Given the description of an element on the screen output the (x, y) to click on. 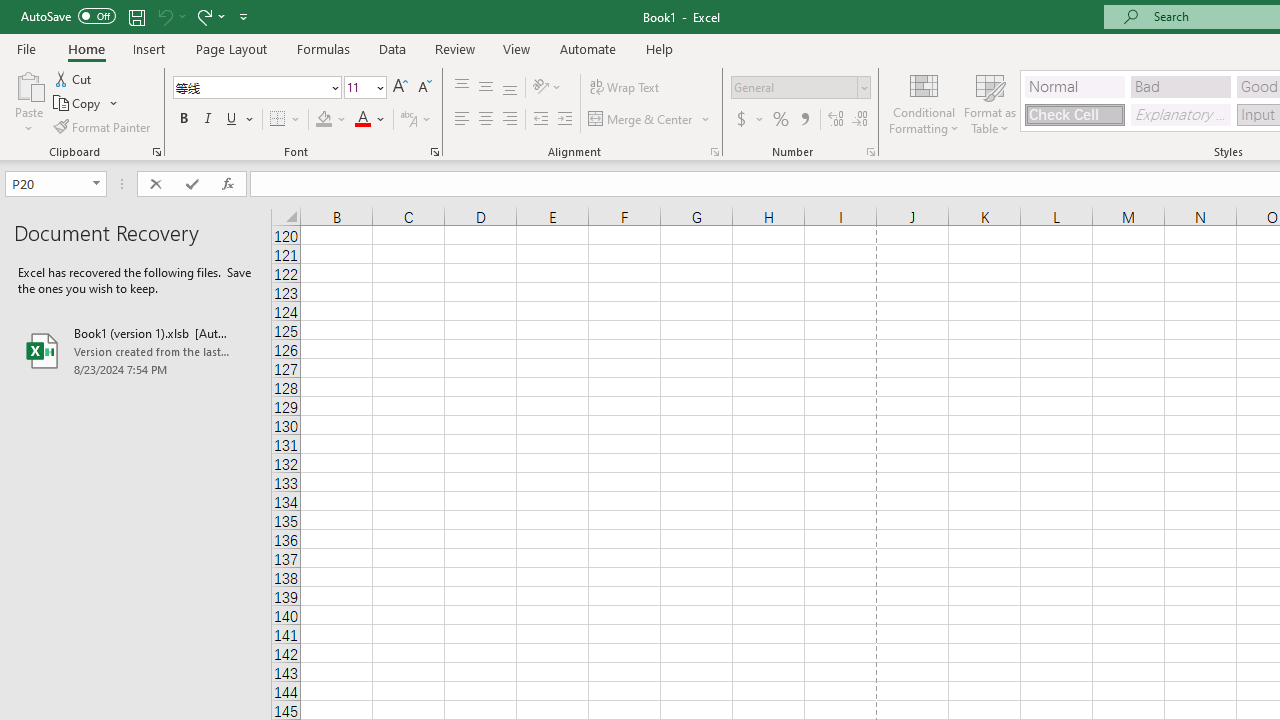
Font Color RGB(255, 0, 0) (362, 119)
Accounting Number Format (741, 119)
Comma Style (804, 119)
Explanatory Text (1180, 114)
Cut (73, 78)
Font Size (358, 87)
Font (256, 87)
Format Cell Alignment (714, 151)
Format as Table (990, 102)
Font Color (370, 119)
Check Cell (1074, 114)
Decrease Decimal (859, 119)
